Given the description of an element on the screen output the (x, y) to click on. 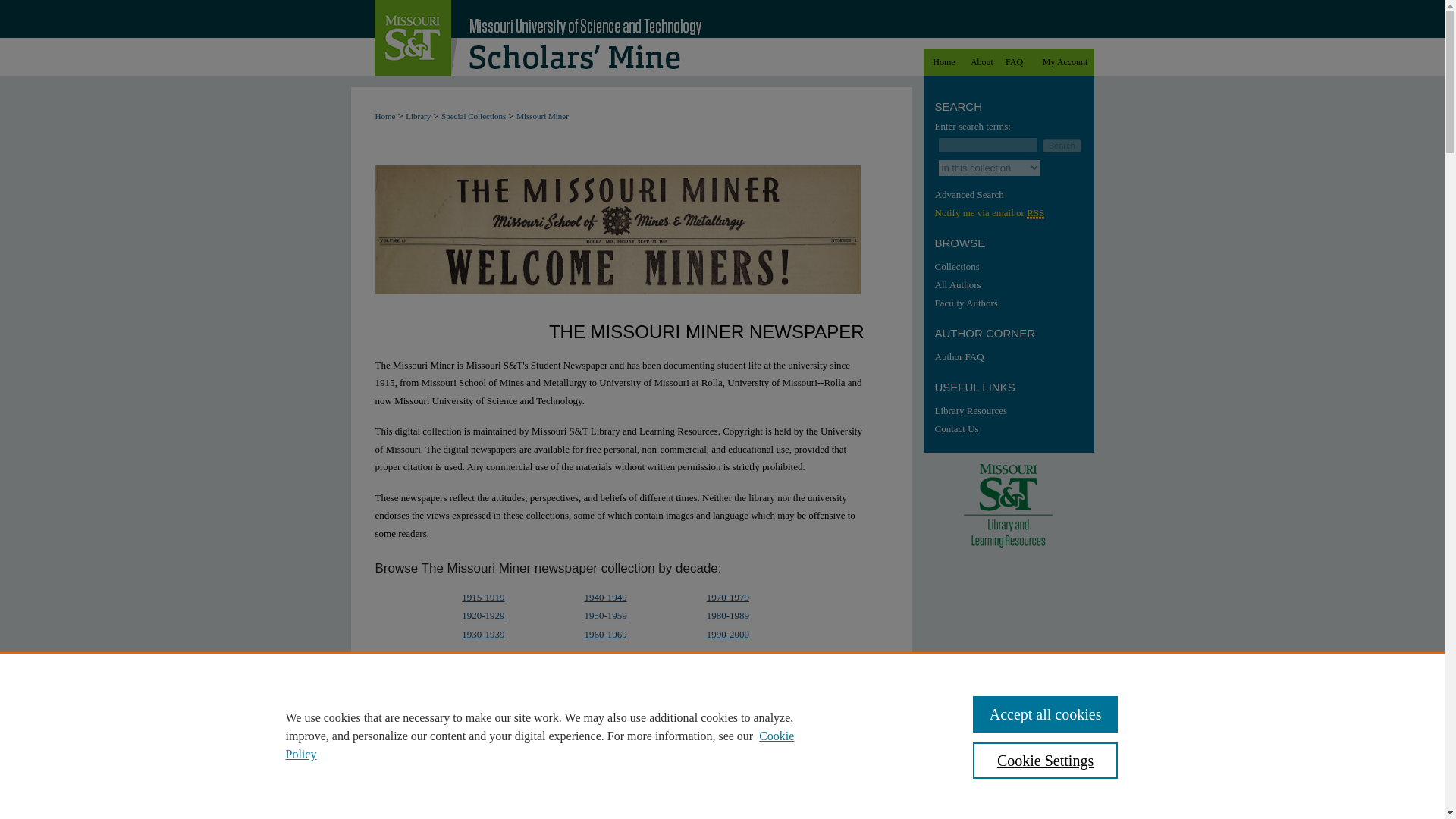
Follow The Missouri Miner Newspaper (862, 689)
FAQ (1013, 62)
FAQ (1013, 62)
THE MISSOURI MINER NEWSPAPER (539, 124)
Switch View to Grid (428, 726)
My Account (1064, 62)
Search (1061, 144)
Library (418, 115)
1980-1989 (727, 614)
1930-1939 (482, 633)
Search (1061, 144)
1920-1929 (482, 614)
My Account (1064, 62)
Scholars' Mine (630, 38)
About (981, 62)
